Given the description of an element on the screen output the (x, y) to click on. 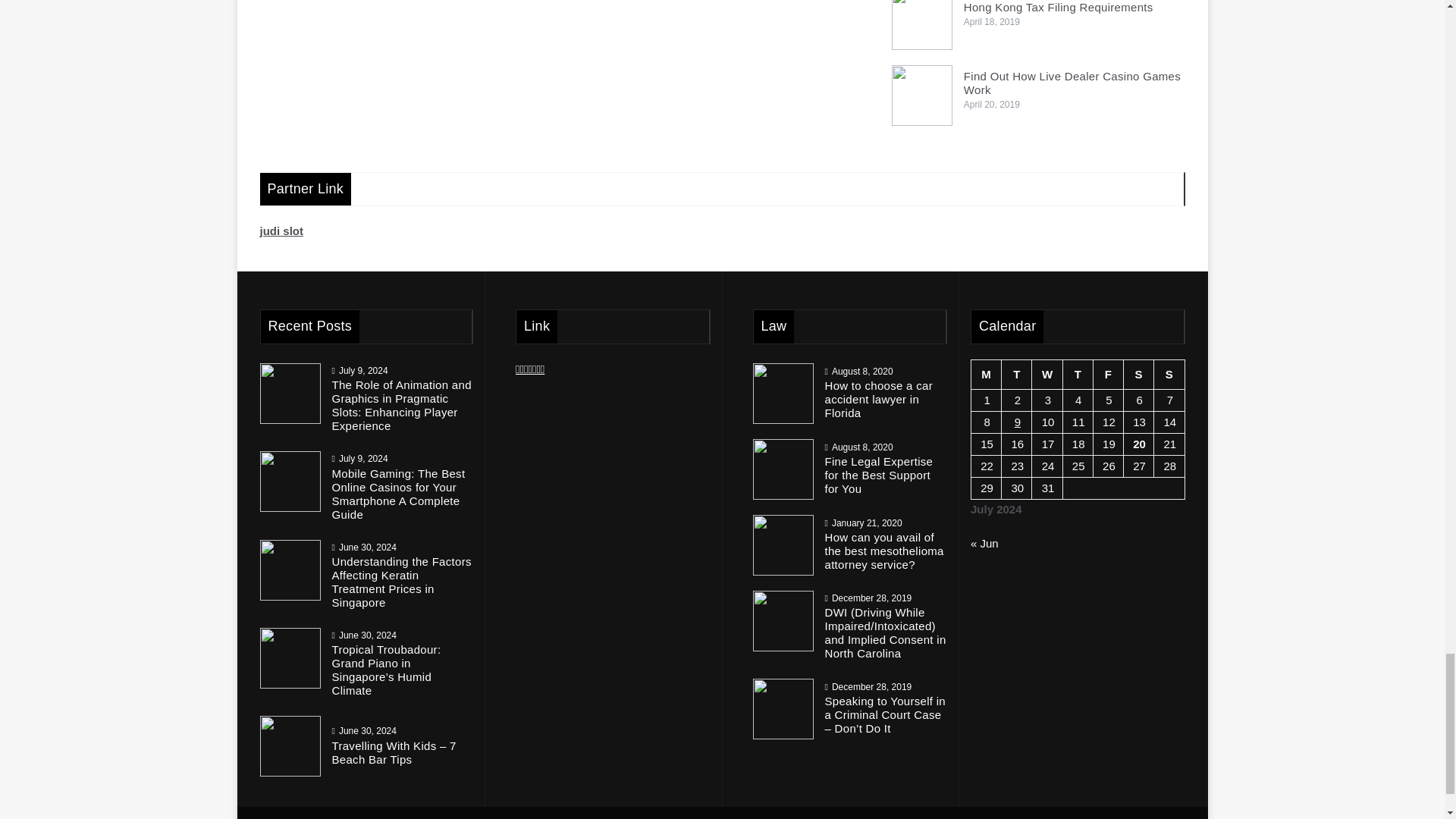
Sunday (1169, 374)
Wednesday (1047, 374)
Friday (1107, 374)
Thursday (1077, 374)
Saturday (1139, 374)
Tuesday (1016, 374)
Monday (986, 374)
